Given the description of an element on the screen output the (x, y) to click on. 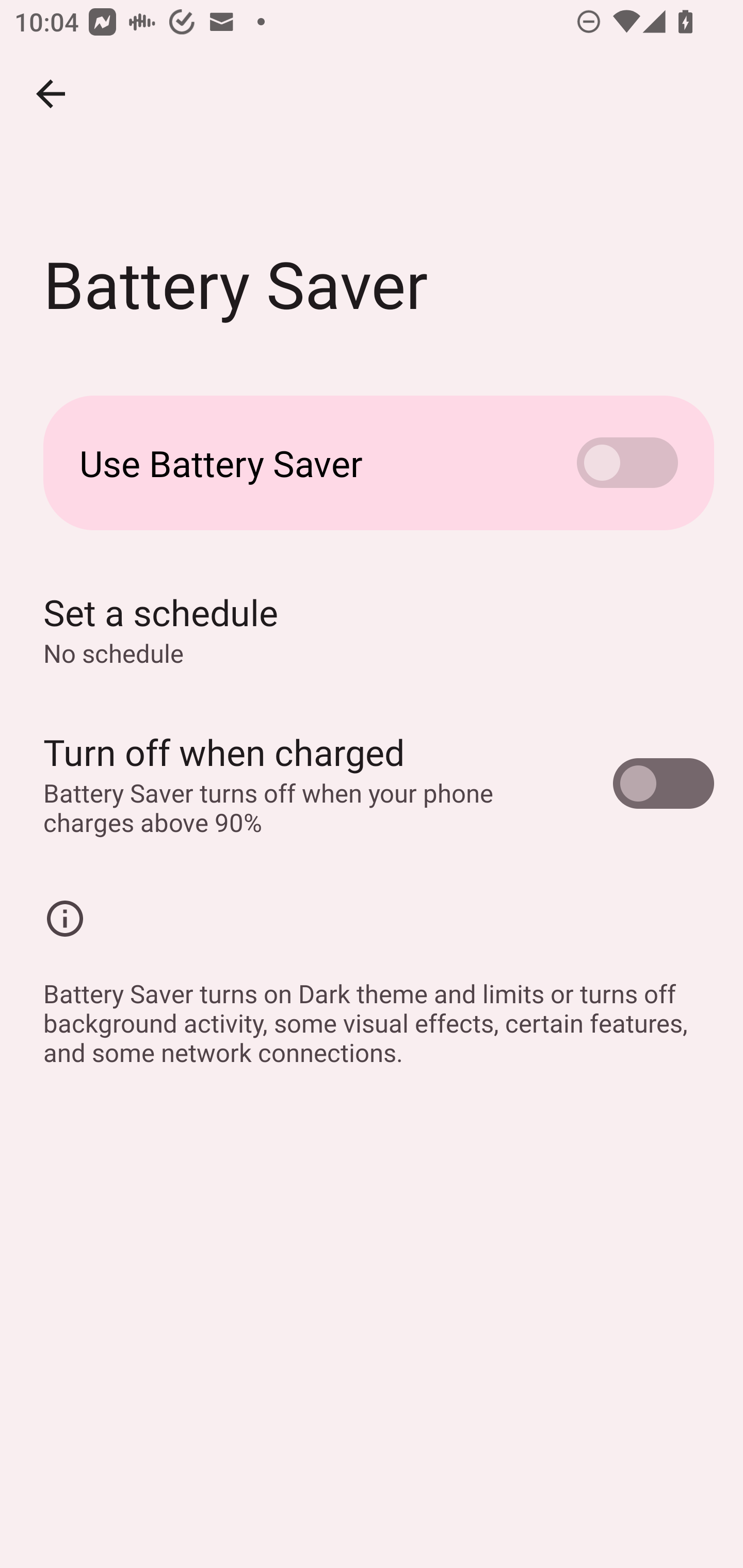
Navigate up (50, 93)
Use Battery Saver (371, 462)
Set a schedule No schedule (371, 629)
